Given the description of an element on the screen output the (x, y) to click on. 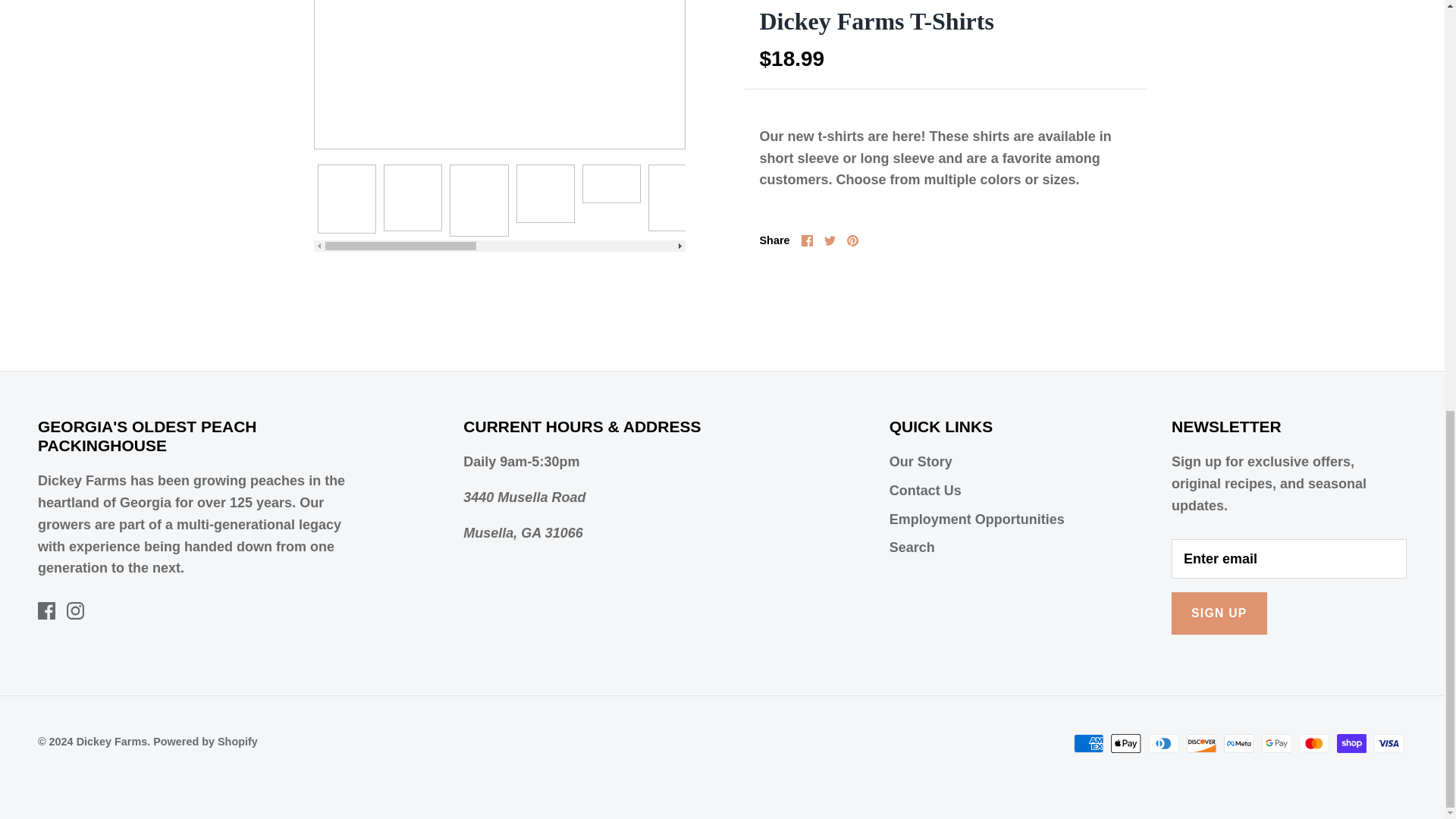
Diners Club (1163, 742)
Twitter (829, 240)
Instagram (75, 610)
Discover (1201, 742)
Facebook (46, 610)
Meta Pay (1238, 742)
American Express (1088, 742)
Facebook (807, 240)
Apple Pay (1125, 742)
Pinterest (853, 240)
